Given the description of an element on the screen output the (x, y) to click on. 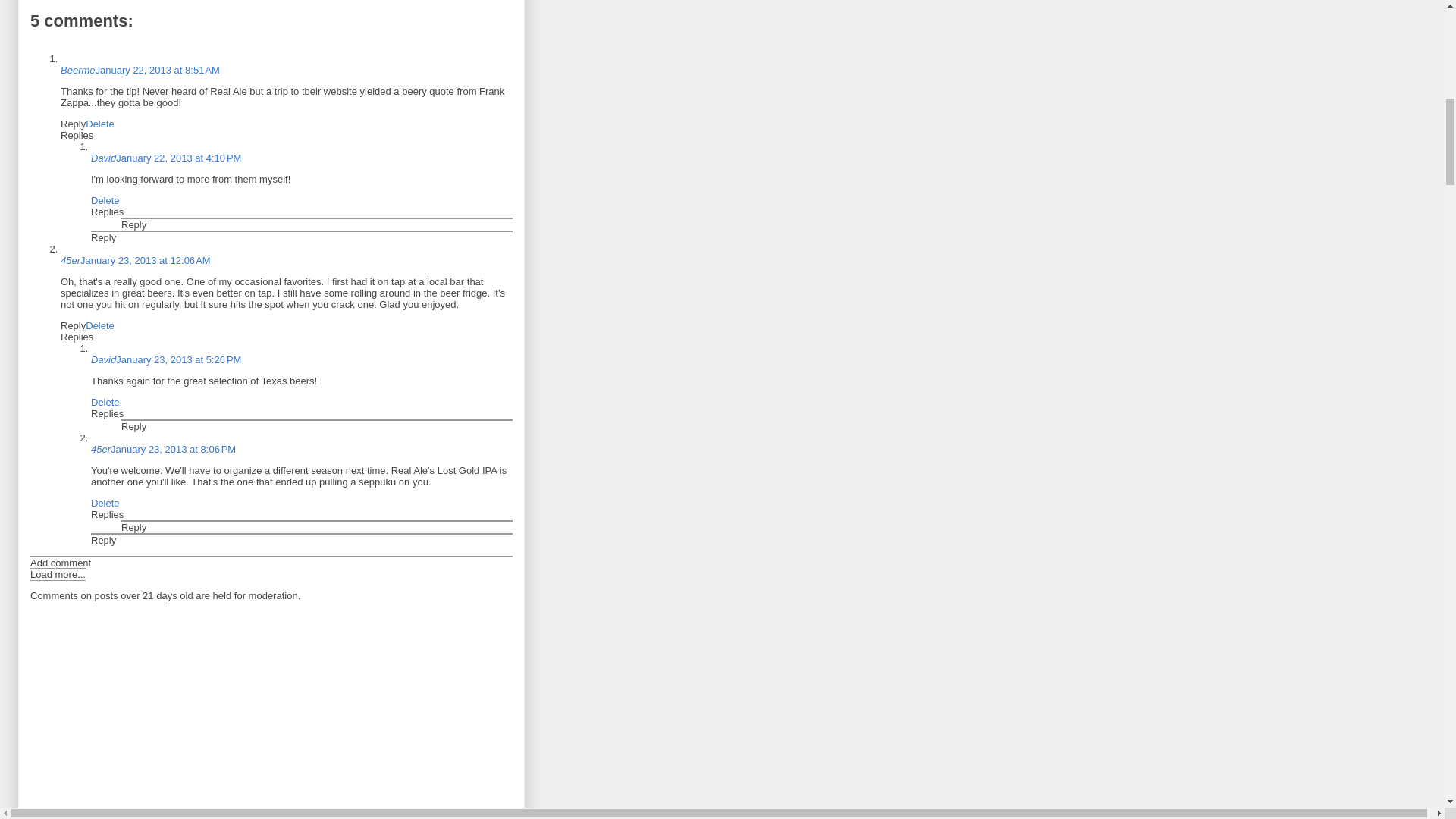
Reply (73, 325)
David (103, 157)
Delete (104, 200)
Delete (100, 123)
Replies (106, 211)
Reply (133, 224)
Beerme (78, 70)
Replies (77, 337)
Reply (73, 123)
45er (70, 260)
Delete (100, 325)
Replies (77, 134)
